Given the description of an element on the screen output the (x, y) to click on. 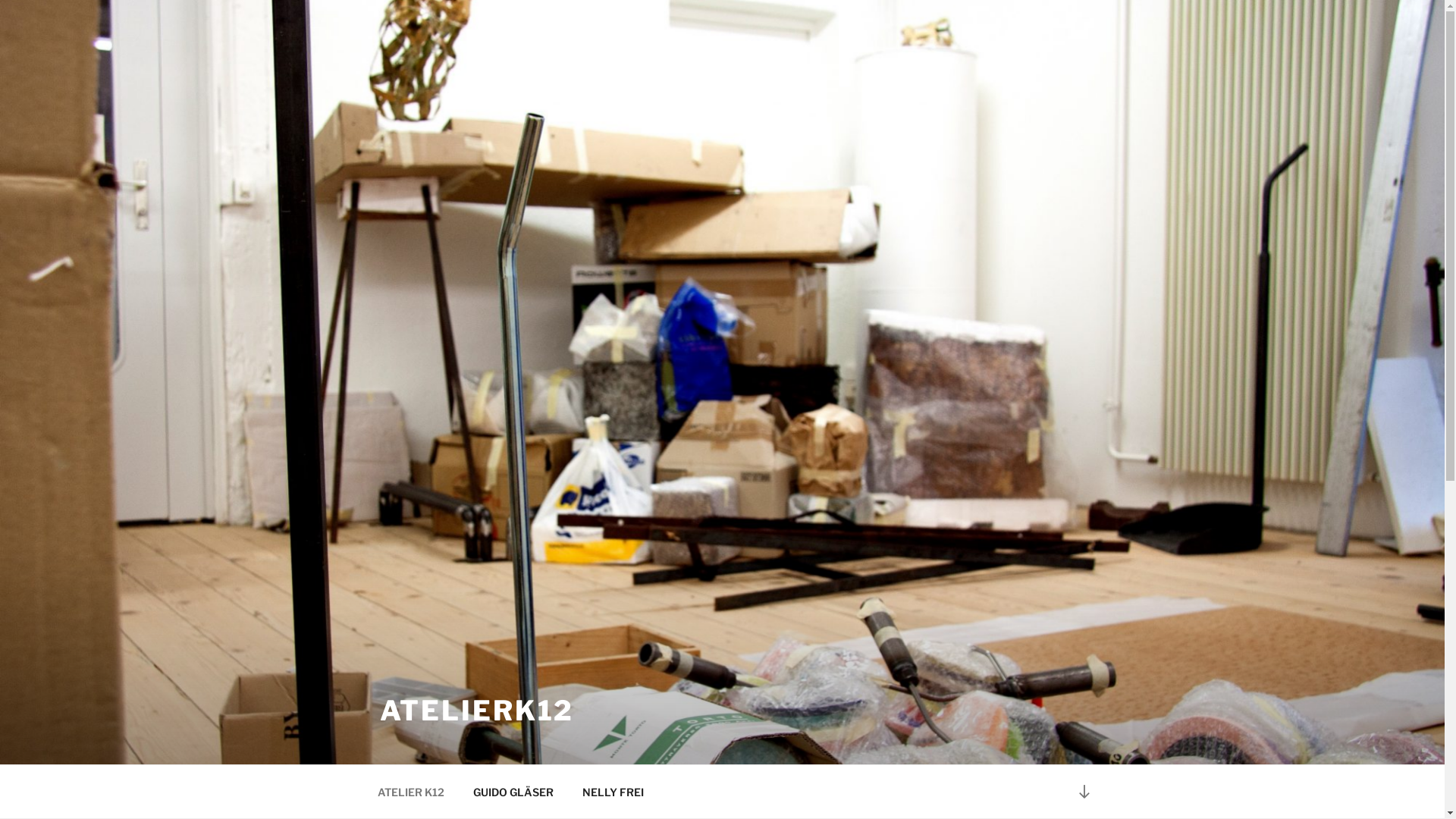
ATELIERK12 Element type: text (476, 710)
ATELIER K12 Element type: text (410, 791)
NELLY FREI Element type: text (612, 791)
Zum Inhalt nach unten scrollen Element type: text (1083, 790)
